Given the description of an element on the screen output the (x, y) to click on. 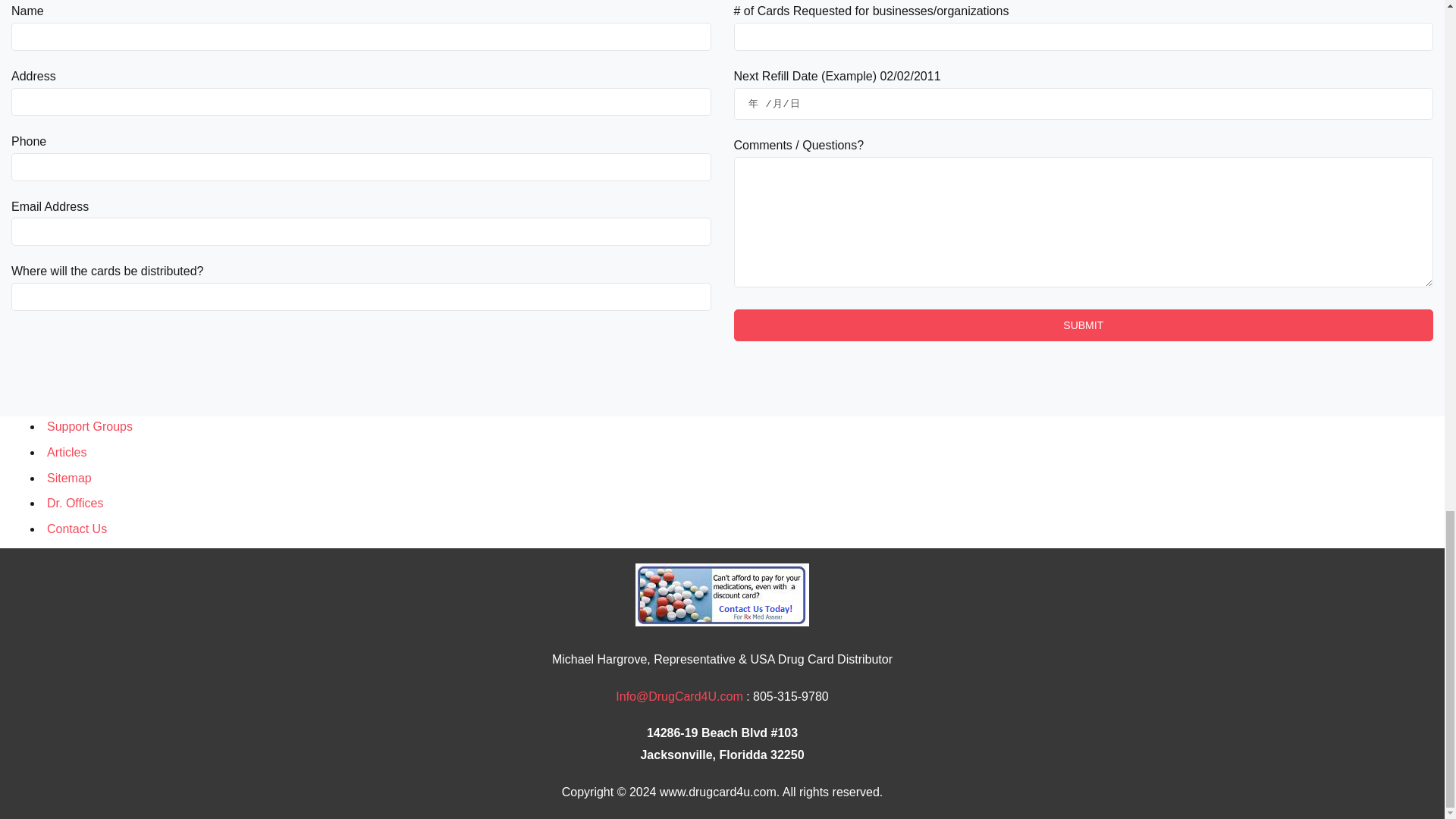
Submit (1083, 325)
Dr. Offices (74, 502)
Submit (1083, 325)
Support Groups (89, 426)
Contact Us (76, 528)
Articles (65, 451)
Sitemap (68, 477)
DrugCard4U.com (678, 696)
